Given the description of an element on the screen output the (x, y) to click on. 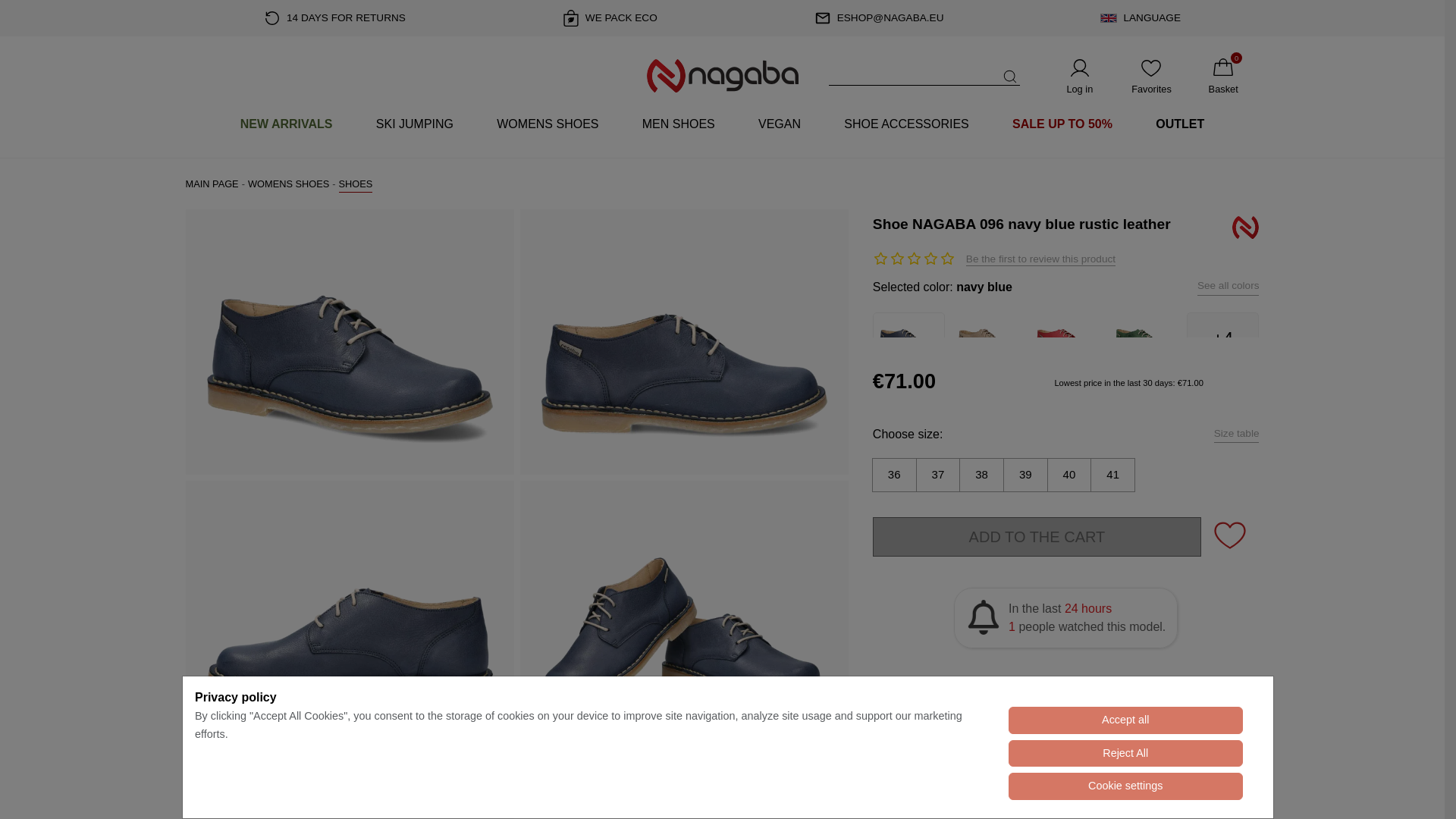
SKI JUMPING (414, 124)
WOMENS SHOES (547, 124)
Basket (1223, 75)
LANGUAGE (1140, 17)
Log in (1079, 75)
NEW ARRIVALS (285, 124)
Favorites (1151, 75)
